Given the description of an element on the screen output the (x, y) to click on. 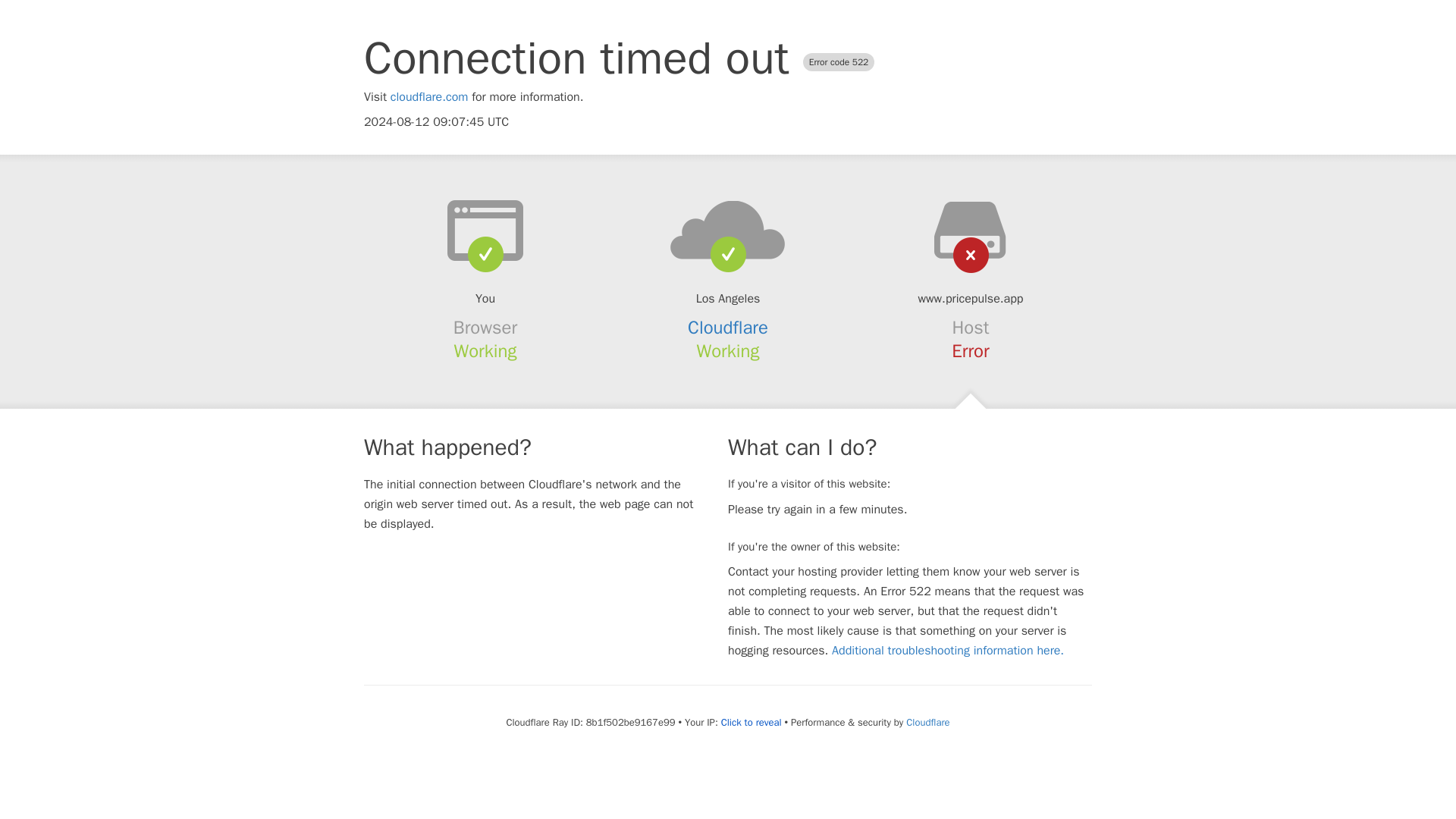
Cloudflare (727, 327)
Additional troubleshooting information here. (947, 650)
Cloudflare (927, 721)
Click to reveal (750, 722)
cloudflare.com (429, 96)
